Given the description of an element on the screen output the (x, y) to click on. 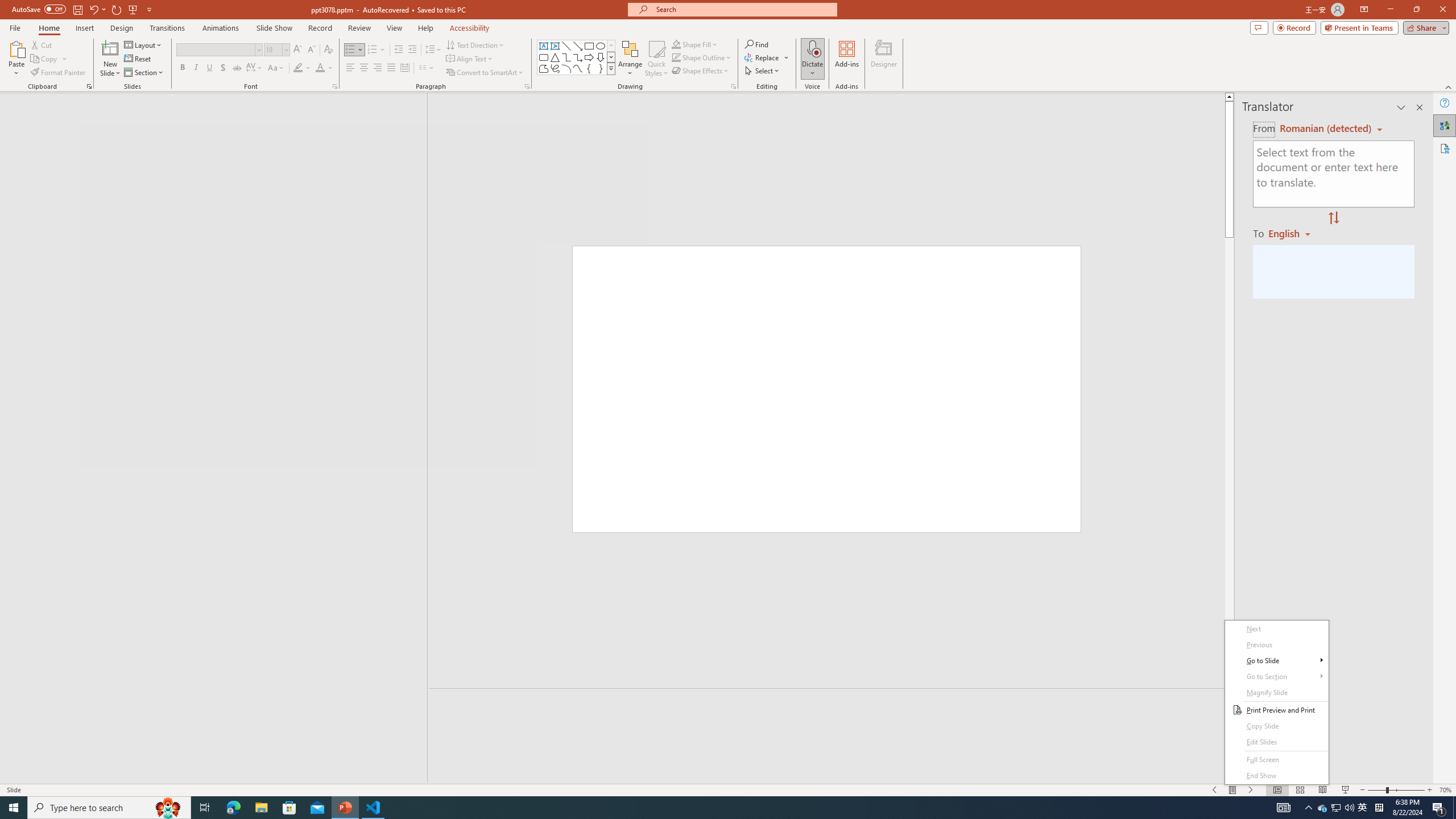
Romanian (detected) (1323, 128)
